Given the description of an element on the screen output the (x, y) to click on. 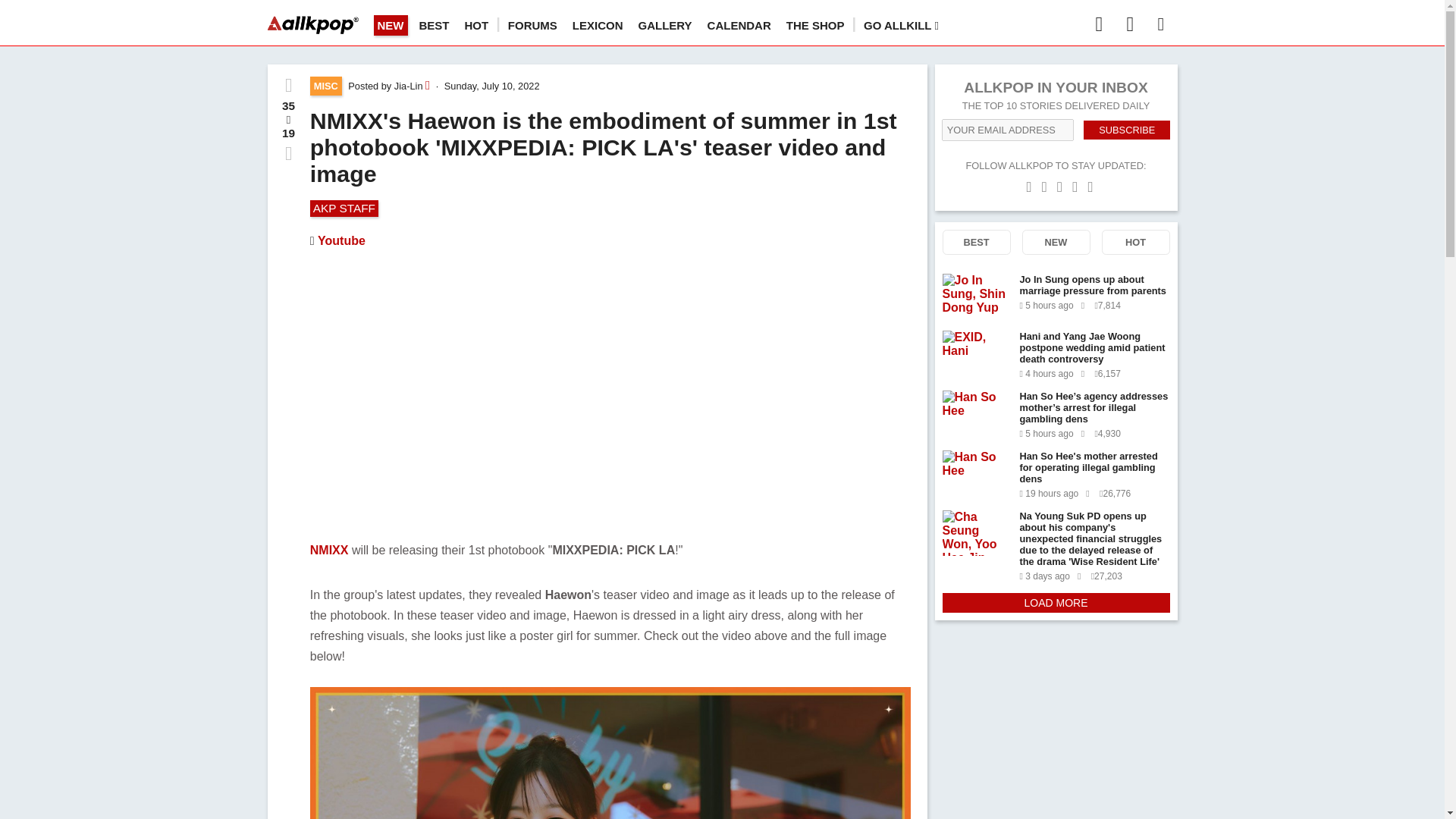
GO ALLKILL (901, 24)
CALENDAR (739, 24)
NMIXX (329, 549)
FORUMS (532, 24)
Jo In Sung, Shin Dong Yup (976, 296)
LOAD MORE (1055, 602)
SUBSCRIBE (1126, 129)
Youtube (341, 240)
Cha Seung Won, Yoo Hae Jin (976, 533)
